Given the description of an element on the screen output the (x, y) to click on. 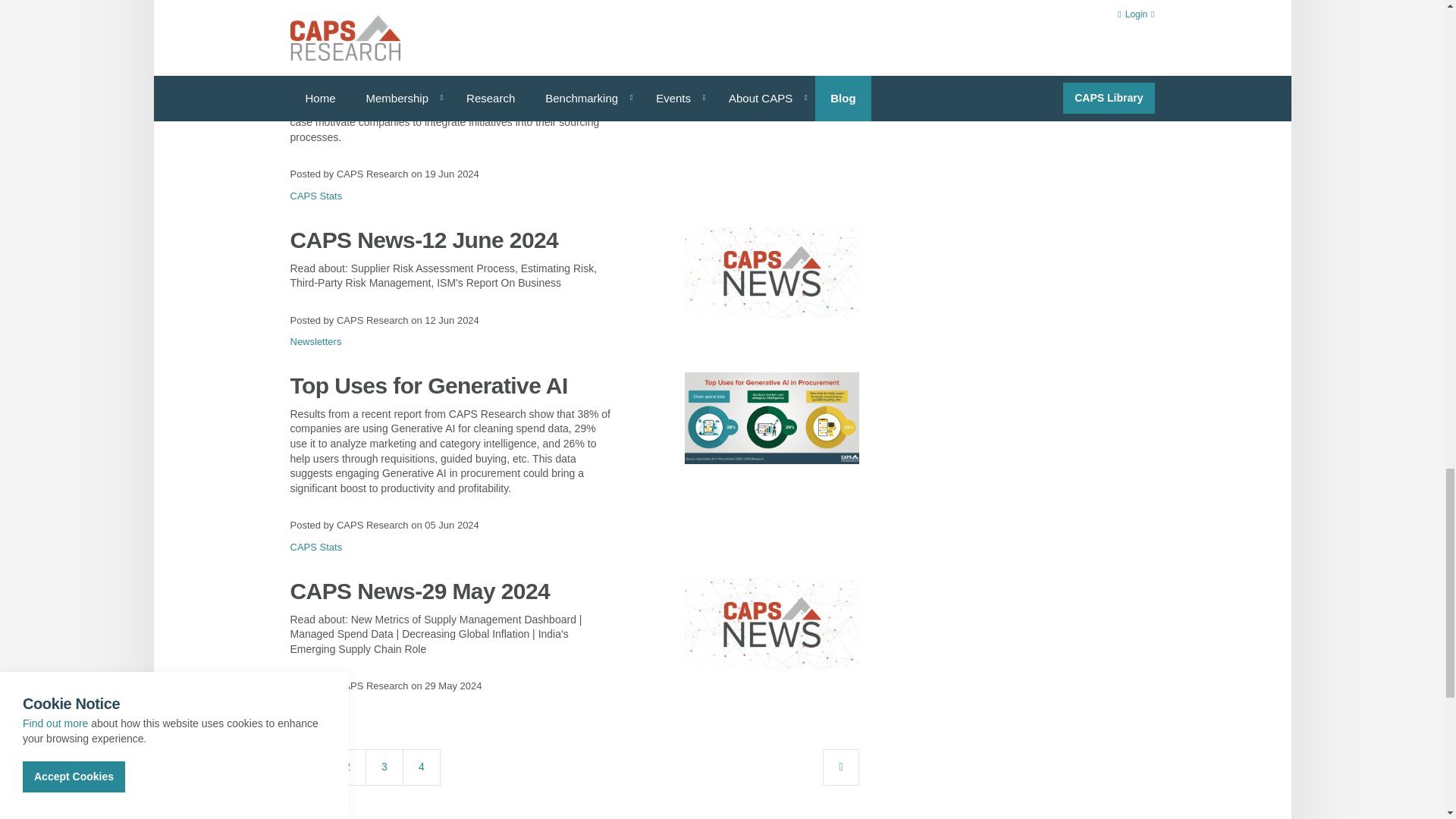
Newsletters (314, 707)
CAPS Stats (315, 546)
Newsletters (314, 341)
CAPS Stats (315, 195)
Next (840, 767)
